Given the description of an element on the screen output the (x, y) to click on. 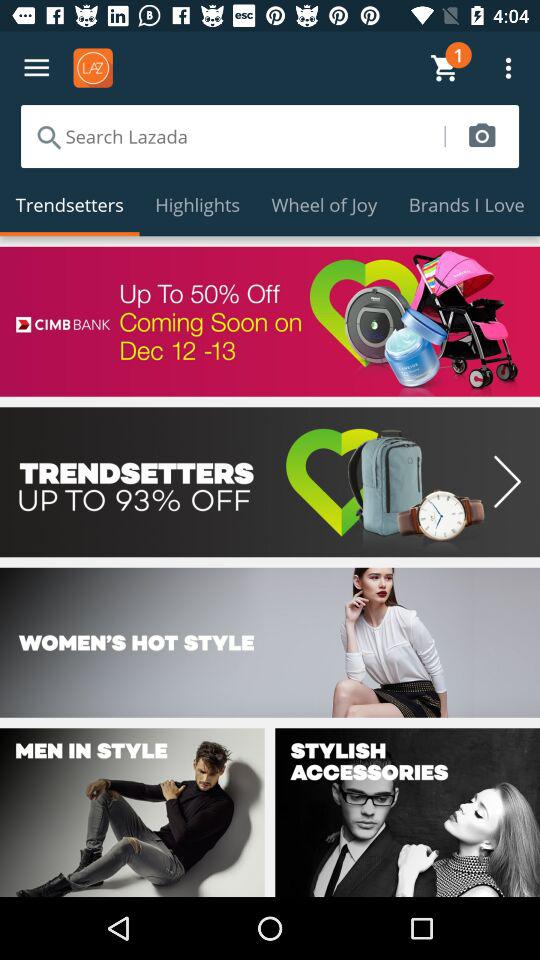
opens an advertisement (270, 321)
